Given the description of an element on the screen output the (x, y) to click on. 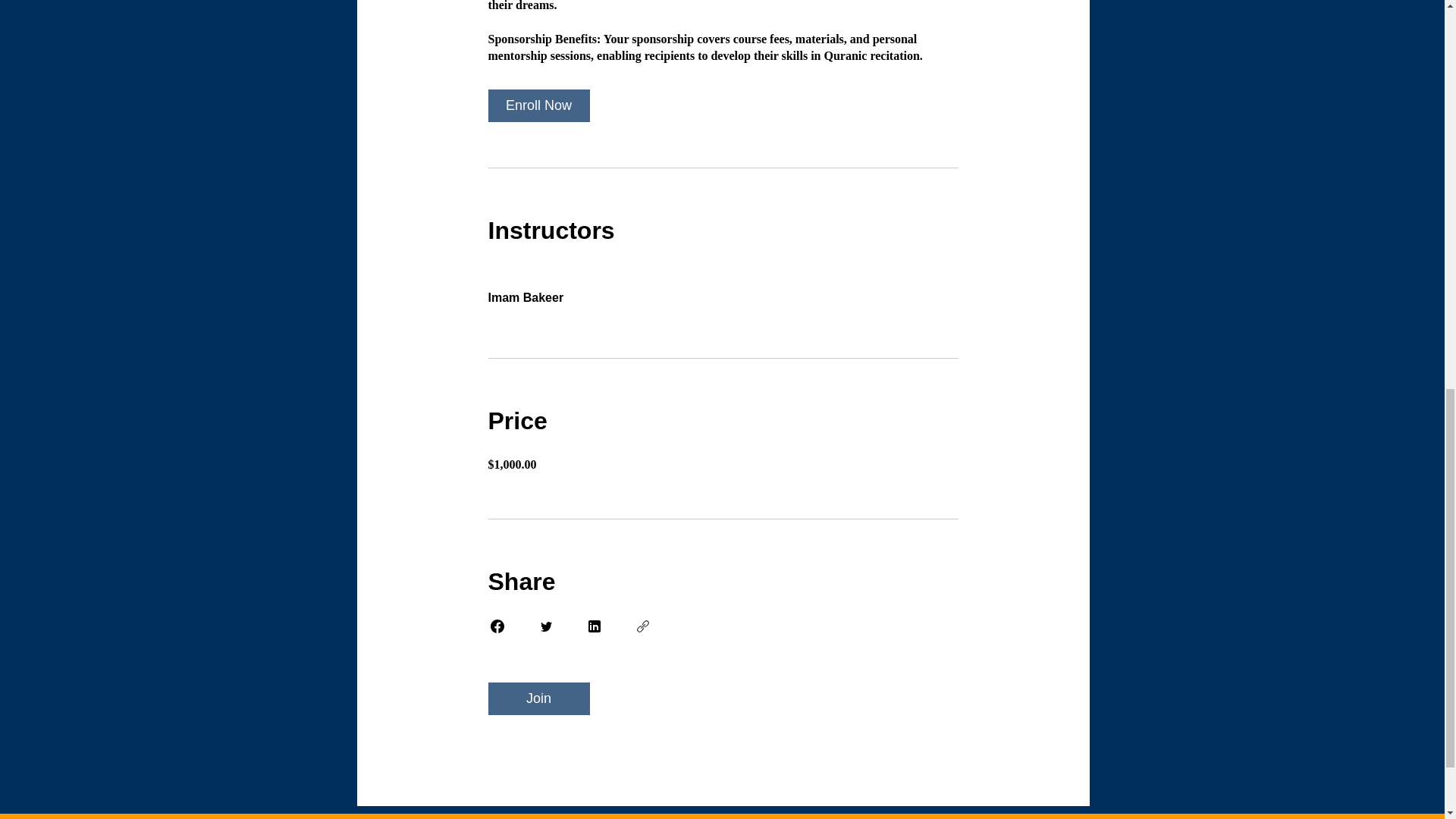
Imam Bakeer (722, 289)
Enroll Now (538, 105)
Join (538, 698)
